Given the description of an element on the screen output the (x, y) to click on. 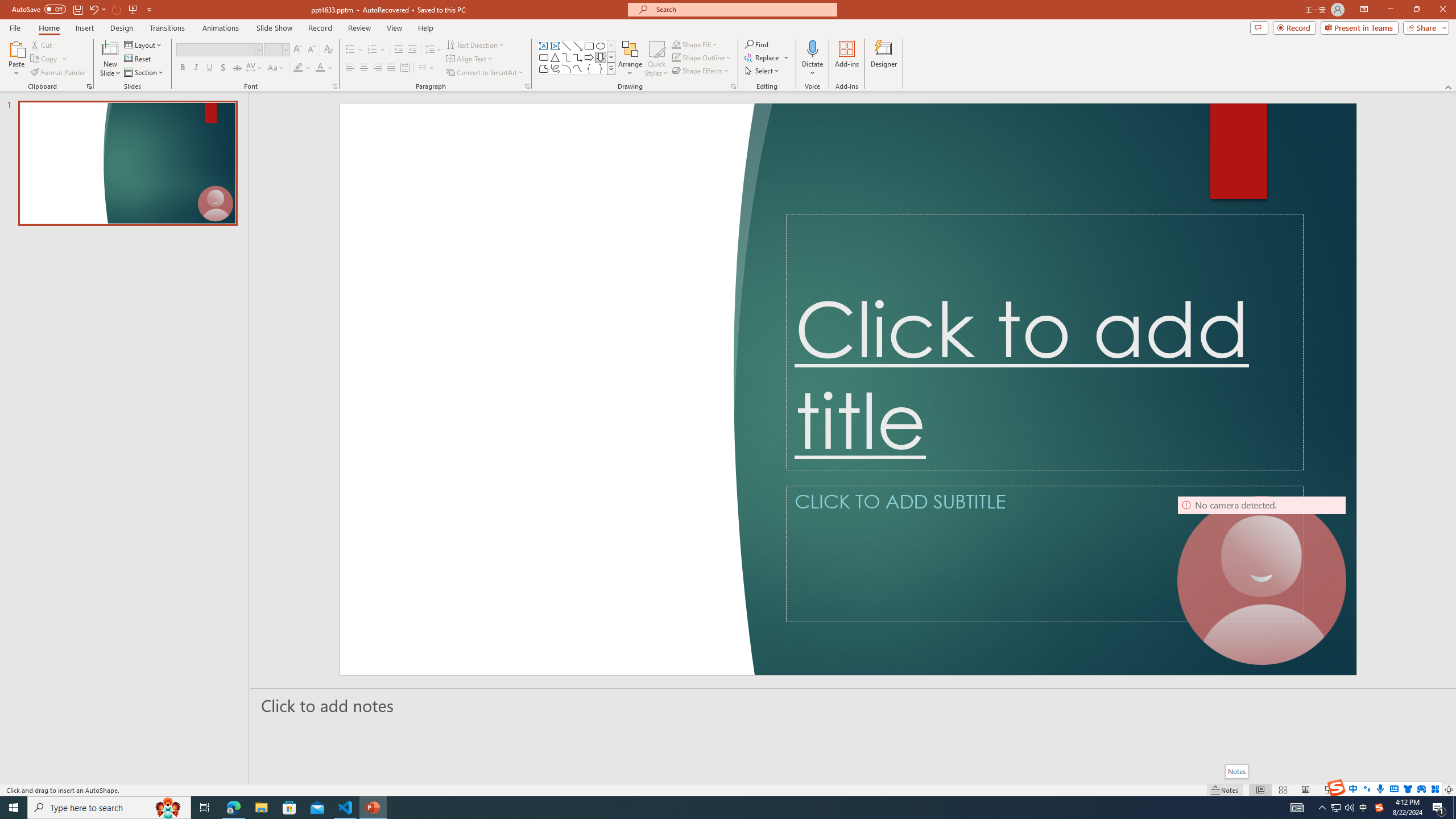
Shape Outline Dark Red, Accent 1 (675, 56)
